Given the description of an element on the screen output the (x, y) to click on. 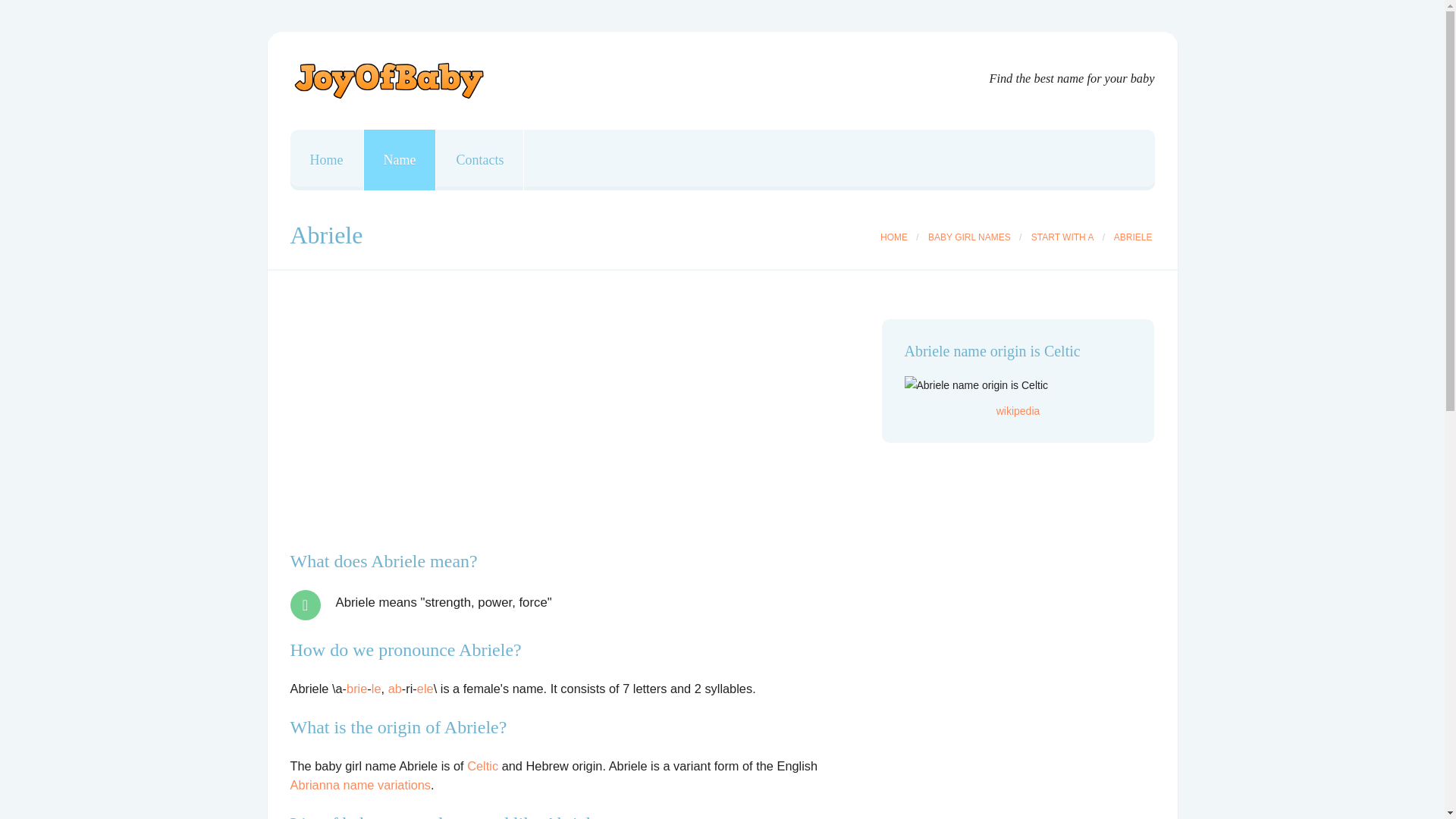
Abrianna name variations (359, 784)
Name (400, 159)
ABRIELE (1133, 236)
wikipedia (1018, 410)
BABY GIRL NAMES (969, 236)
ele (424, 688)
ab (394, 688)
Celtic (482, 766)
START WITH A (1062, 236)
brie (356, 688)
